Given the description of an element on the screen output the (x, y) to click on. 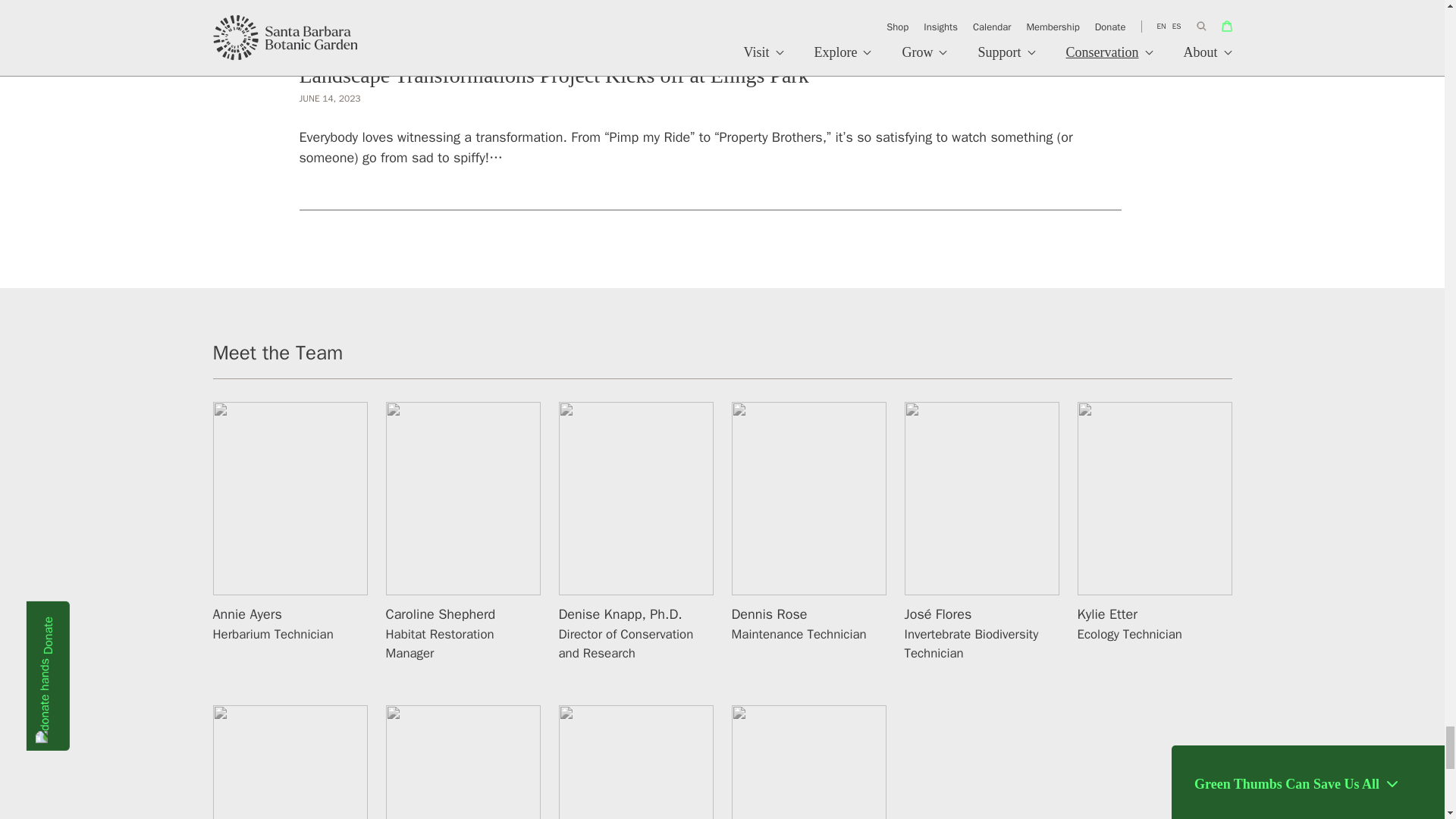
Annie Ayers (246, 614)
Caroline Shepherd (440, 614)
Denise Knapp, Ph.D. (619, 614)
Kylie Etter (1107, 614)
